Given the description of an element on the screen output the (x, y) to click on. 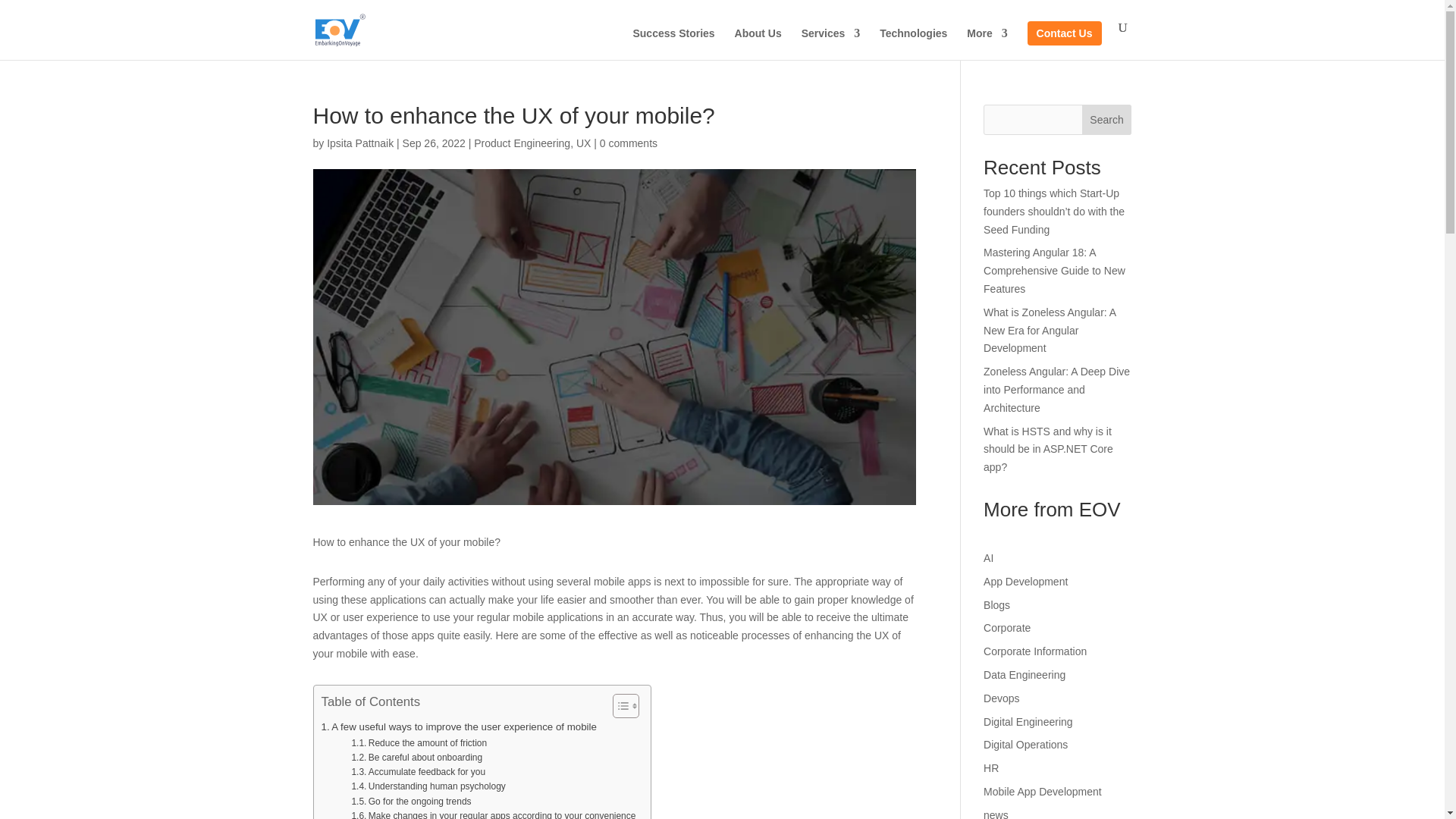
Contact Us (1064, 33)
A few useful ways to improve the user experience of mobile (458, 726)
Product Engineering (522, 143)
Go for the ongoing trends (410, 801)
A few useful ways to improve the user experience of mobile (458, 726)
Go for the ongoing trends (410, 801)
About Us (758, 43)
Services (831, 43)
Technologies (913, 43)
